Given the description of an element on the screen output the (x, y) to click on. 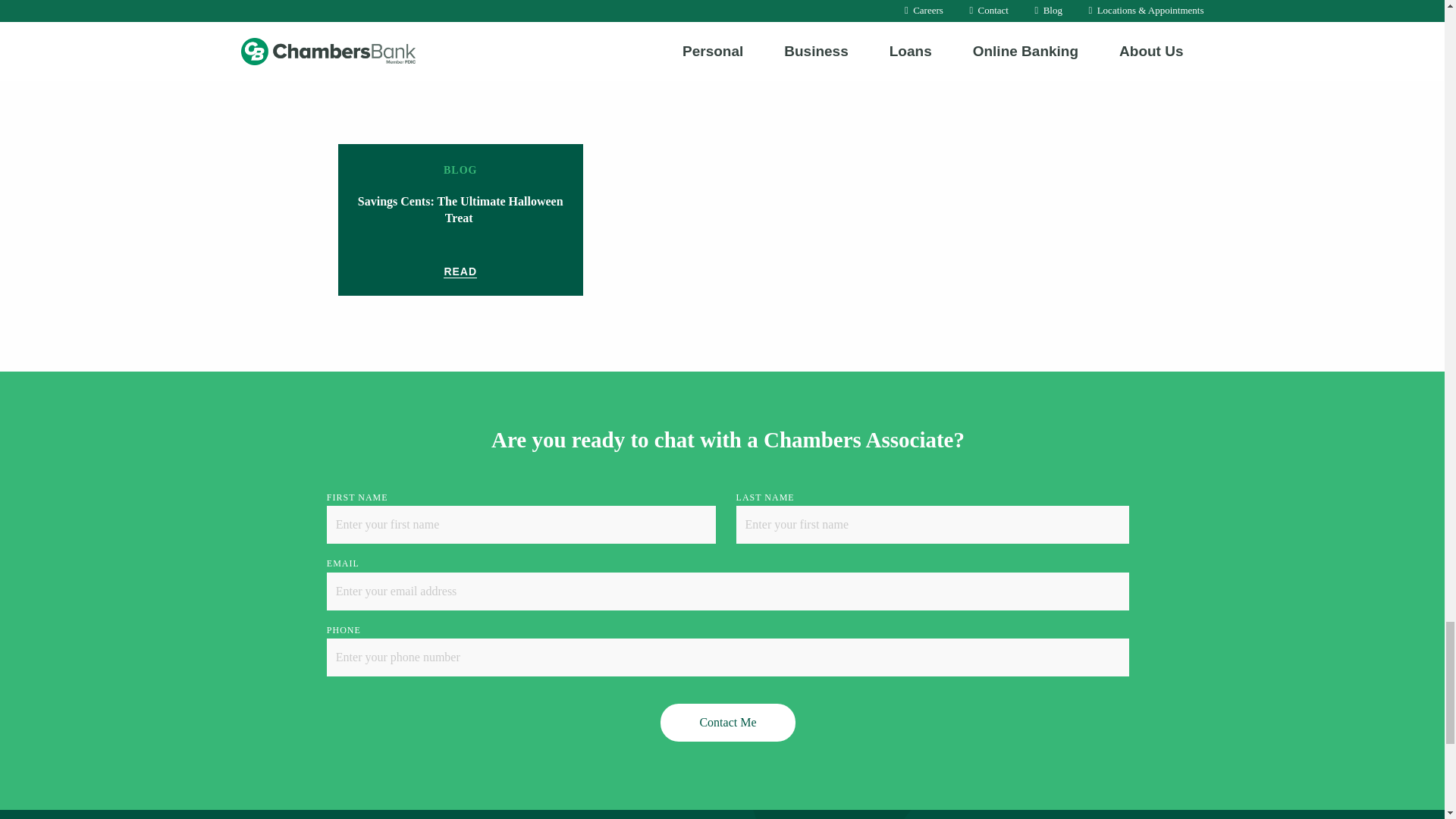
Contact Me (727, 722)
Read More (460, 271)
